Given the description of an element on the screen output the (x, y) to click on. 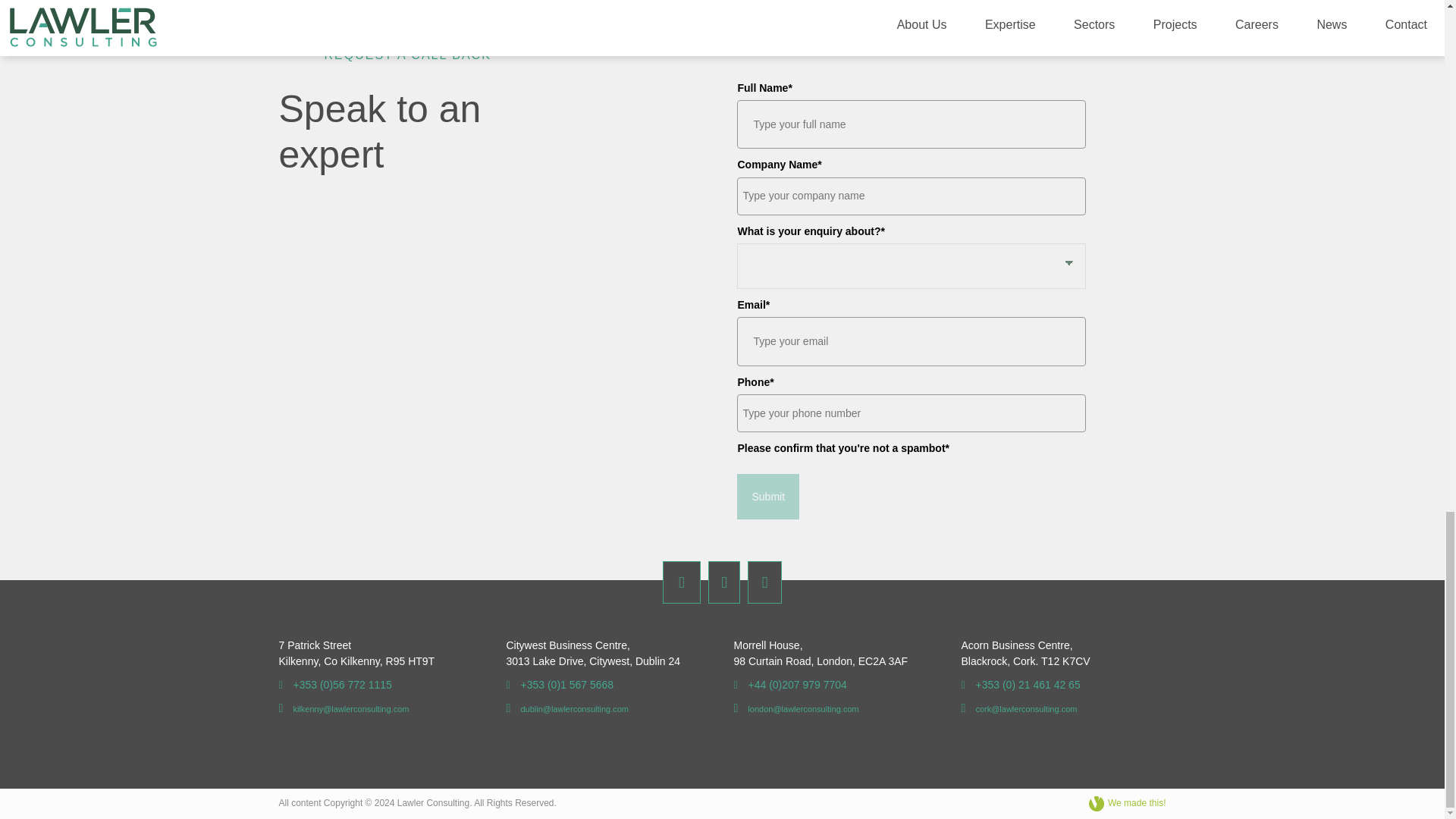
Link to call Dublin Office (560, 684)
Link to call Kilkenny Office (335, 684)
Link to email Lawler Consulting (567, 708)
Link to email Lawler Consulting (344, 708)
Link to Lawler Consulting Facebook Page (681, 582)
Link to call London Office (790, 684)
